Given the description of an element on the screen output the (x, y) to click on. 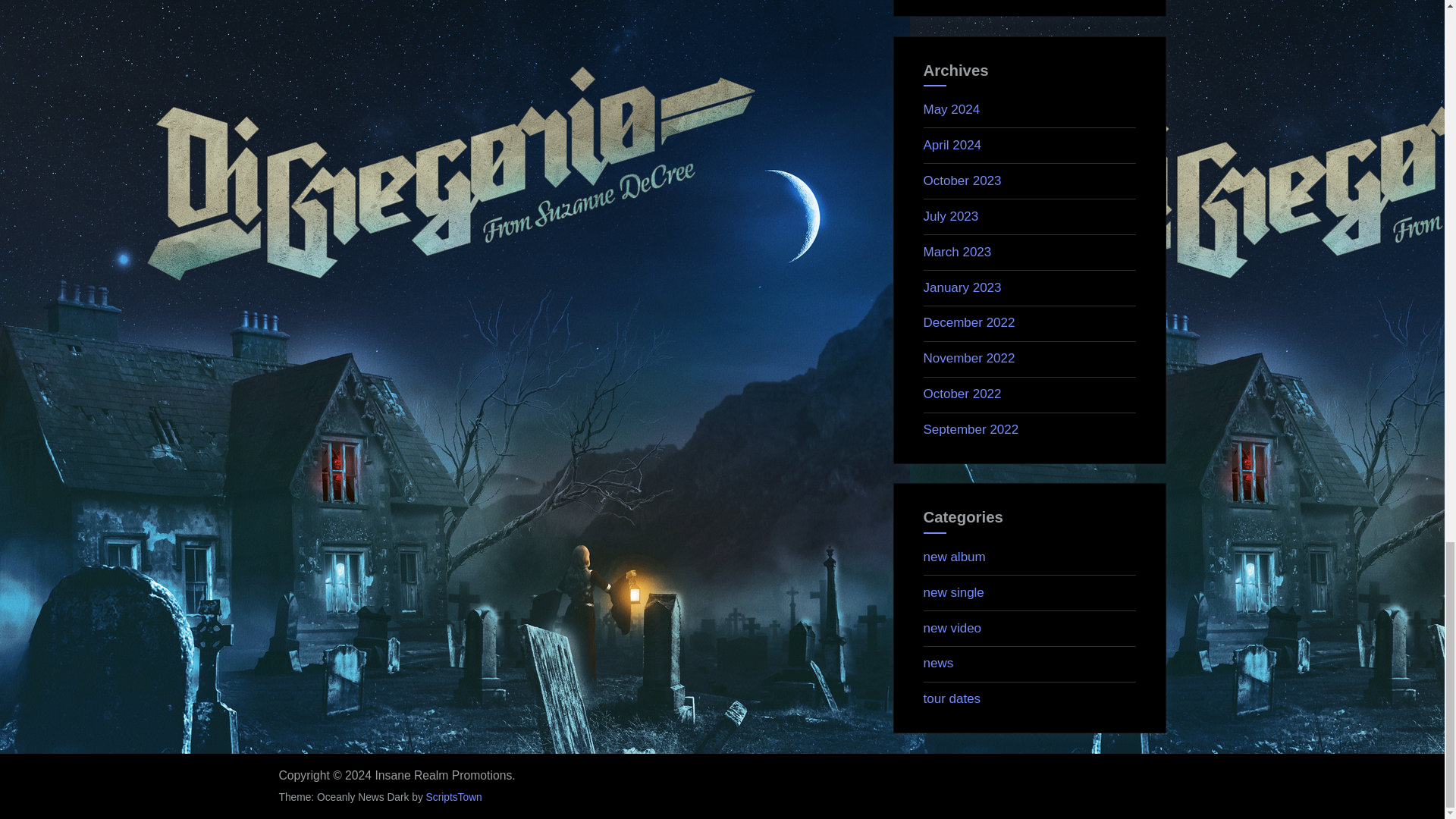
May 2024 (951, 109)
